Given the description of an element on the screen output the (x, y) to click on. 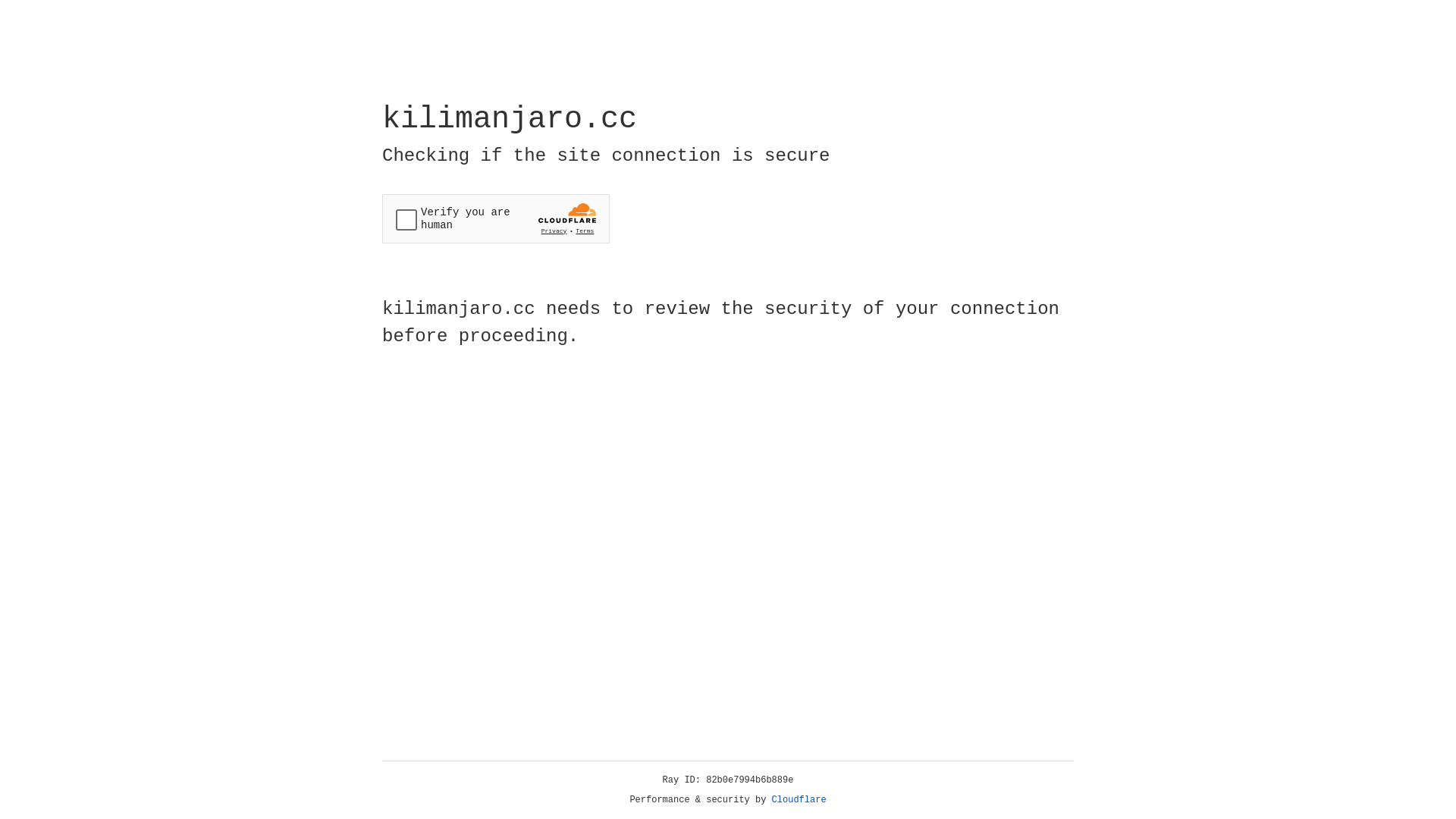
Widget containing a Cloudflare security challenge Element type: hover (495, 218)
Cloudflare Element type: text (798, 799)
